Given the description of an element on the screen output the (x, y) to click on. 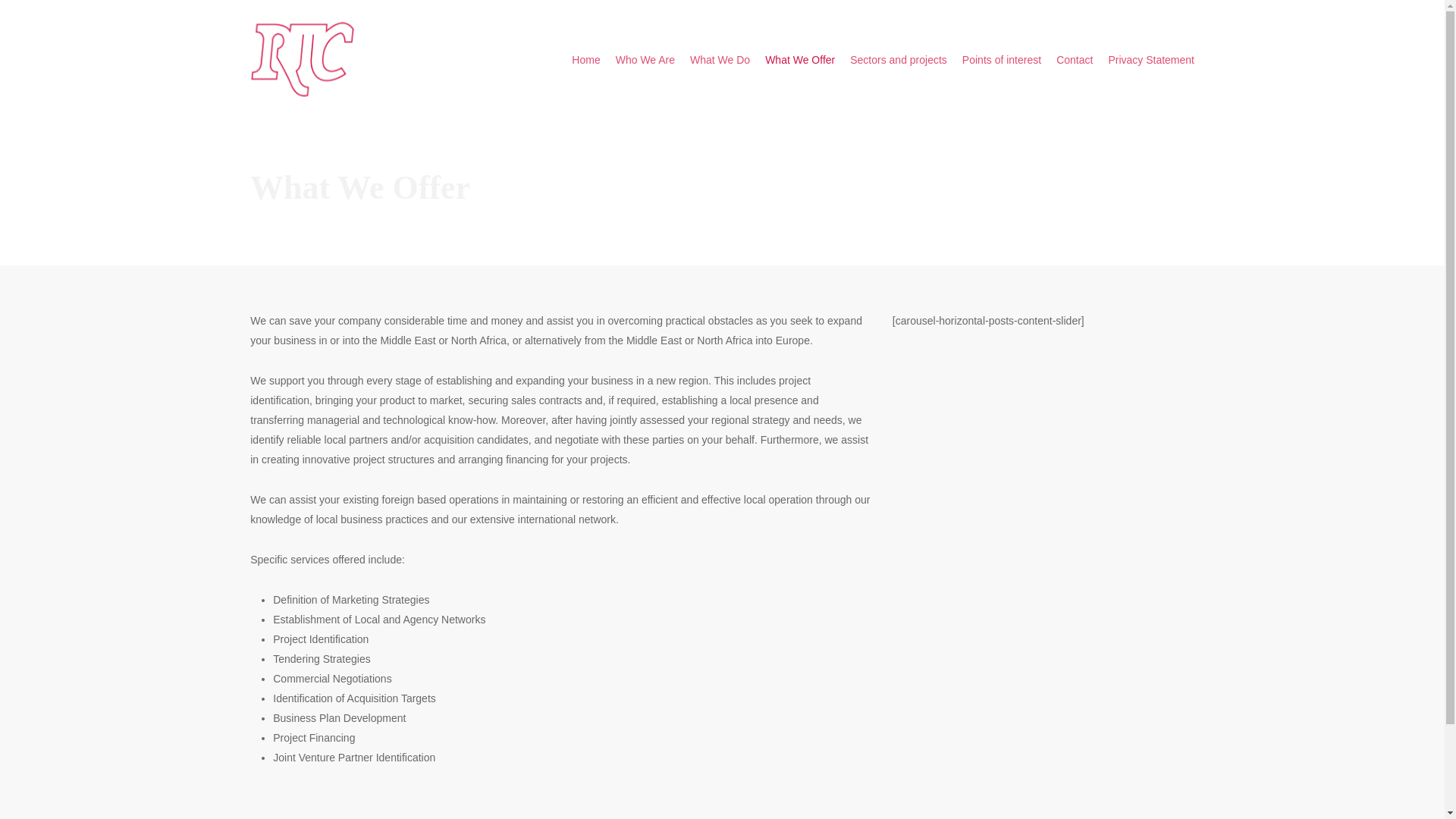
Contact (1075, 58)
What We Do (719, 58)
Sectors and projects (898, 58)
Privacy Statement (1150, 58)
Who We Are (645, 58)
What We Offer (799, 58)
Home (585, 58)
Points of interest (1001, 58)
